Given the description of an element on the screen output the (x, y) to click on. 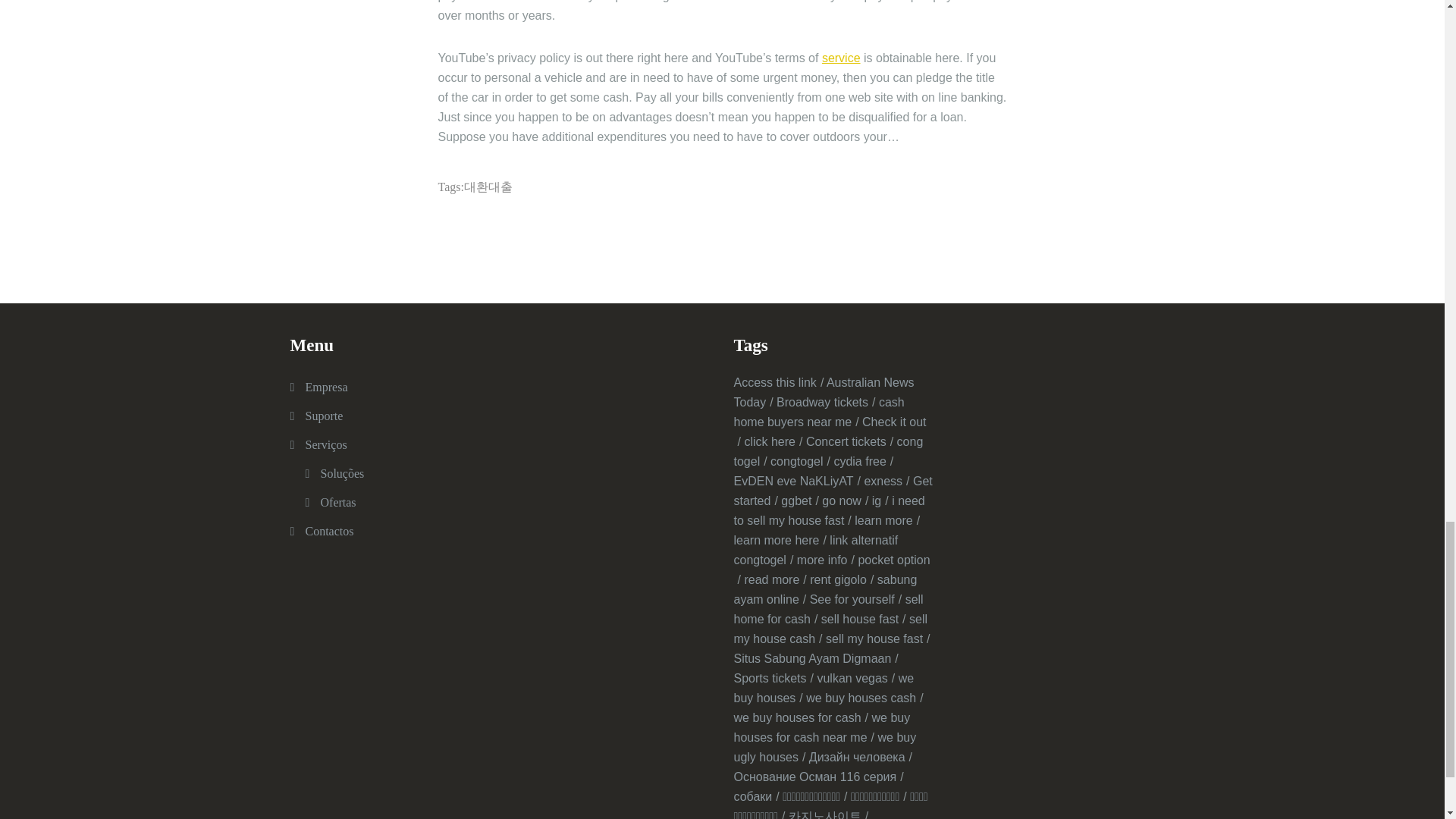
EvDEN eve NaKLiyAT (796, 481)
congtogel (799, 461)
ig (880, 500)
Ofertas (337, 502)
cash home buyers near me (818, 411)
service (841, 57)
go now (844, 500)
cong togel (828, 450)
Empresa (325, 386)
Access this link (778, 382)
